Given the description of an element on the screen output the (x, y) to click on. 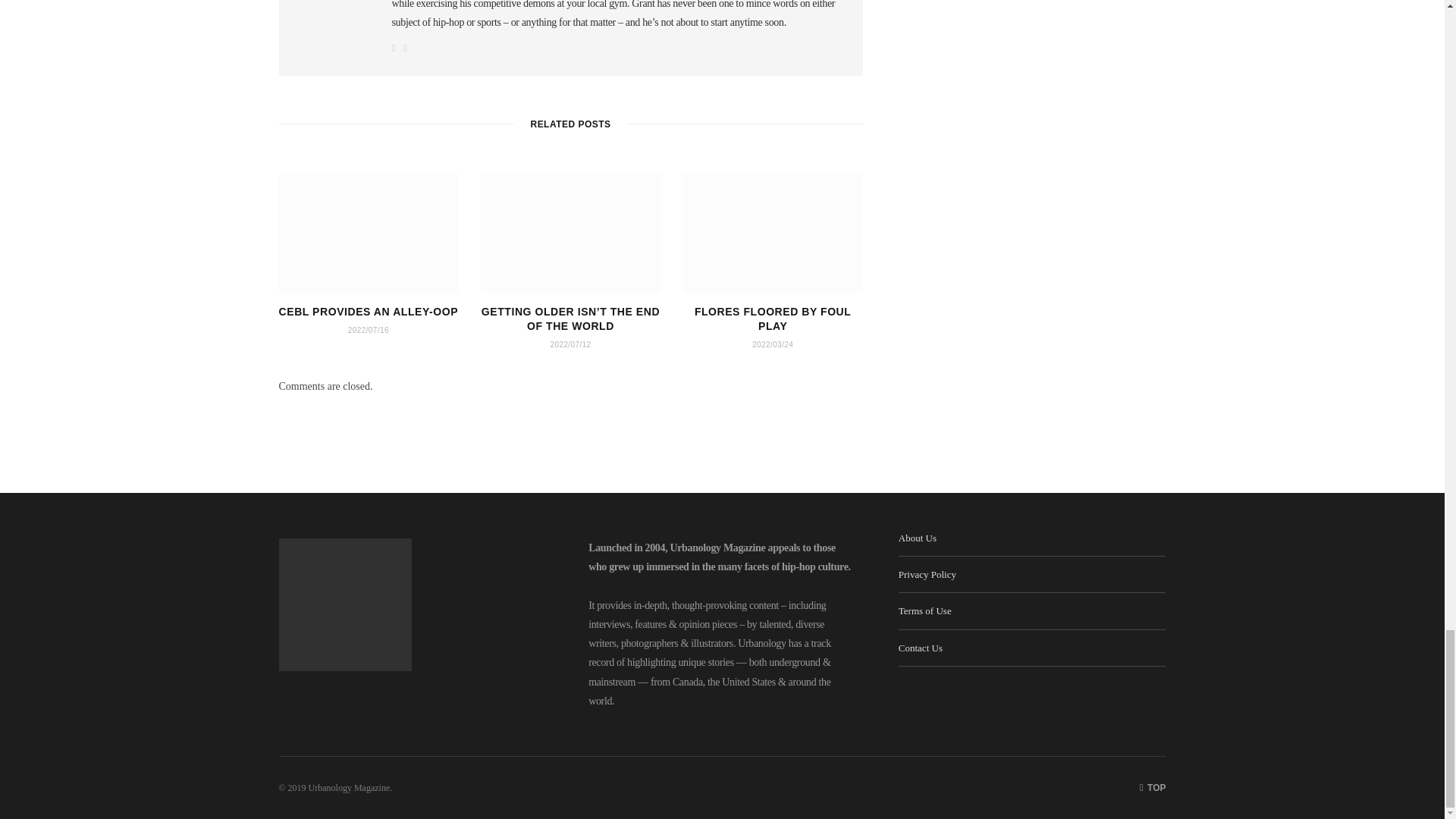
cebl provides an alley-oop (368, 232)
